Given the description of an element on the screen output the (x, y) to click on. 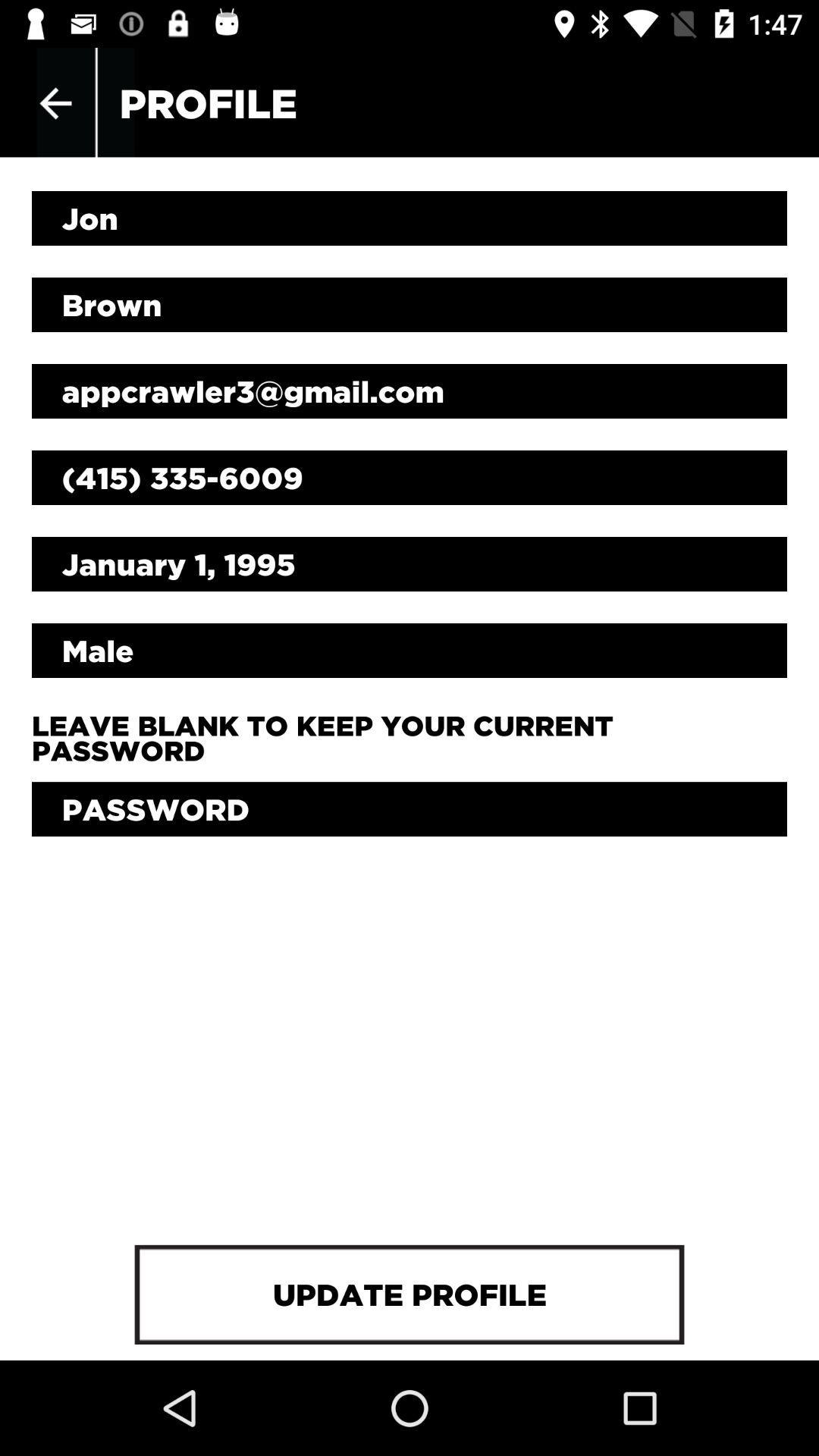
jump until the (415) 335-6009 (409, 477)
